Given the description of an element on the screen output the (x, y) to click on. 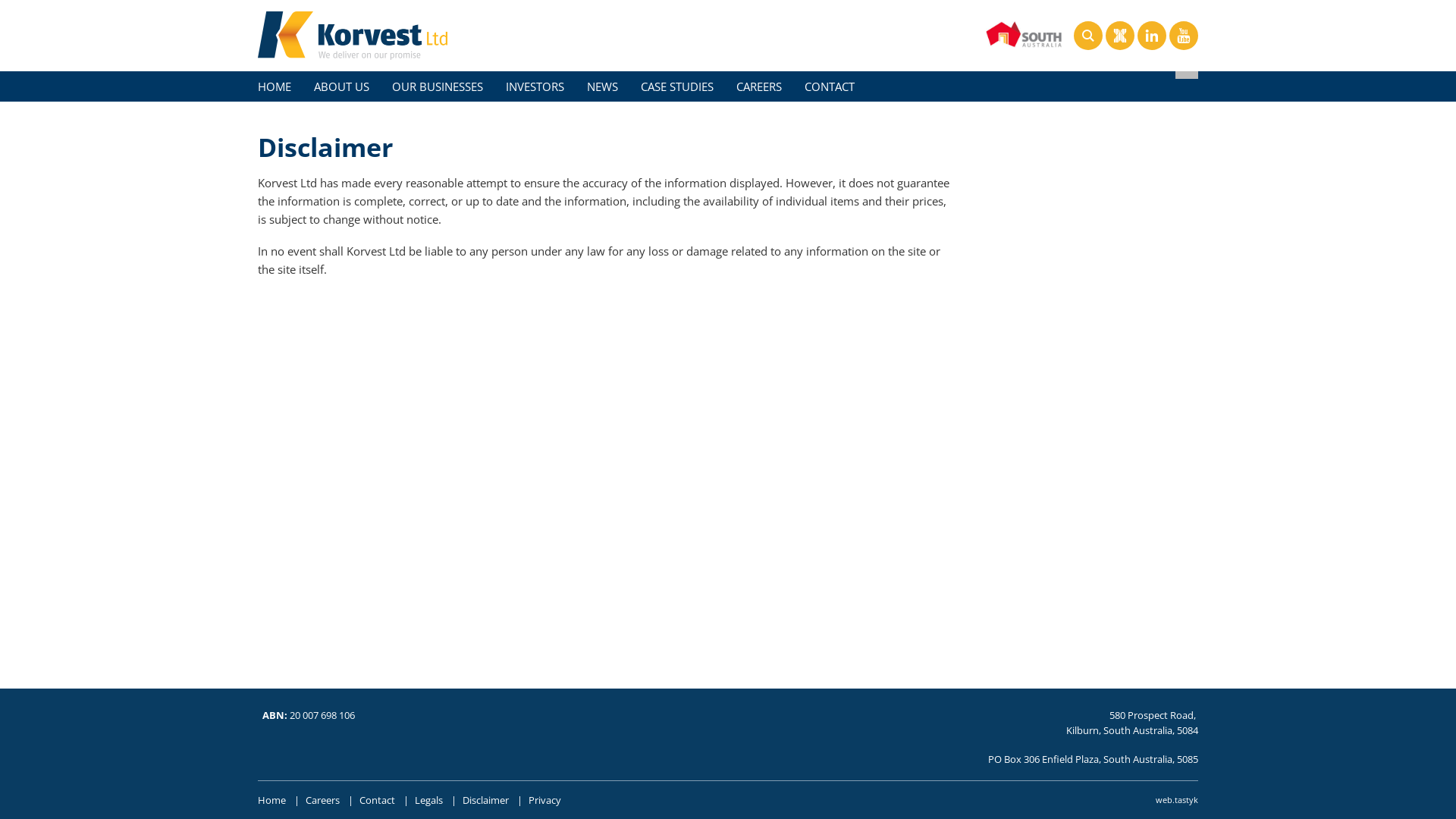
Careers Element type: text (322, 800)
NEWS Element type: text (602, 86)
OUR BUSINESSES Element type: text (437, 86)
web.tastyk Element type: text (1176, 799)
HOME Element type: text (274, 86)
CASE STUDIES Element type: text (676, 86)
INVESTORS Element type: text (534, 86)
Search Element type: hover (1087, 35)
CONTACT Element type: text (829, 86)
Contact Element type: text (377, 800)
CAREERS Element type: text (758, 86)
Legals Element type: text (428, 800)
Privacy Element type: text (544, 800)
Disclaimer Element type: text (485, 800)
Home Element type: text (271, 800)
ABOUT US Element type: text (341, 86)
